Given the description of an element on the screen output the (x, y) to click on. 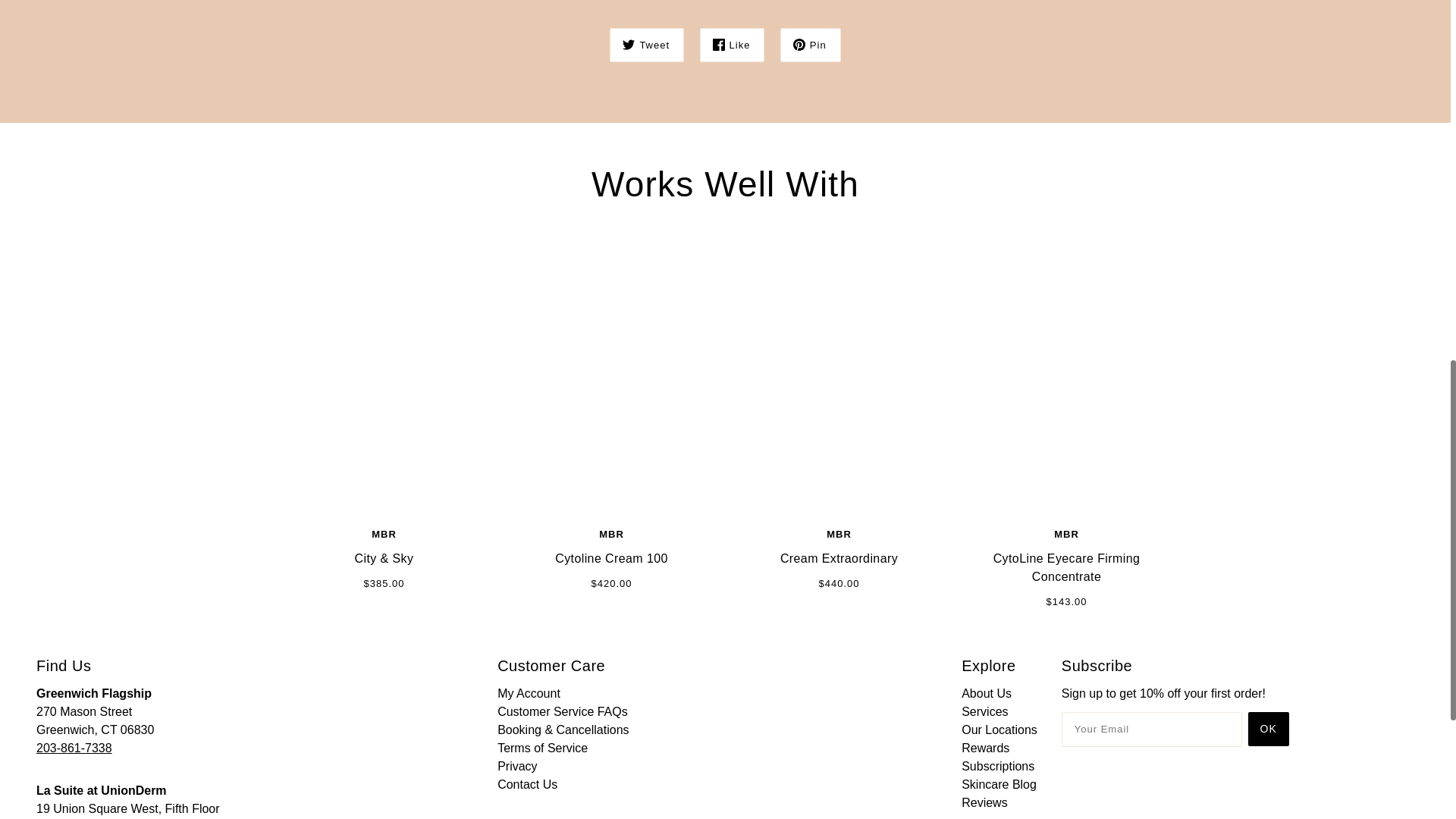
My Account (528, 693)
Our Locations (998, 729)
Reviews (983, 802)
Contact Us (527, 784)
Terms of Service (542, 748)
Subscriptions (996, 766)
Privacy (517, 766)
Skincare Blog (998, 784)
Customer Service FAQs (562, 711)
About Us (985, 693)
